Given the description of an element on the screen output the (x, y) to click on. 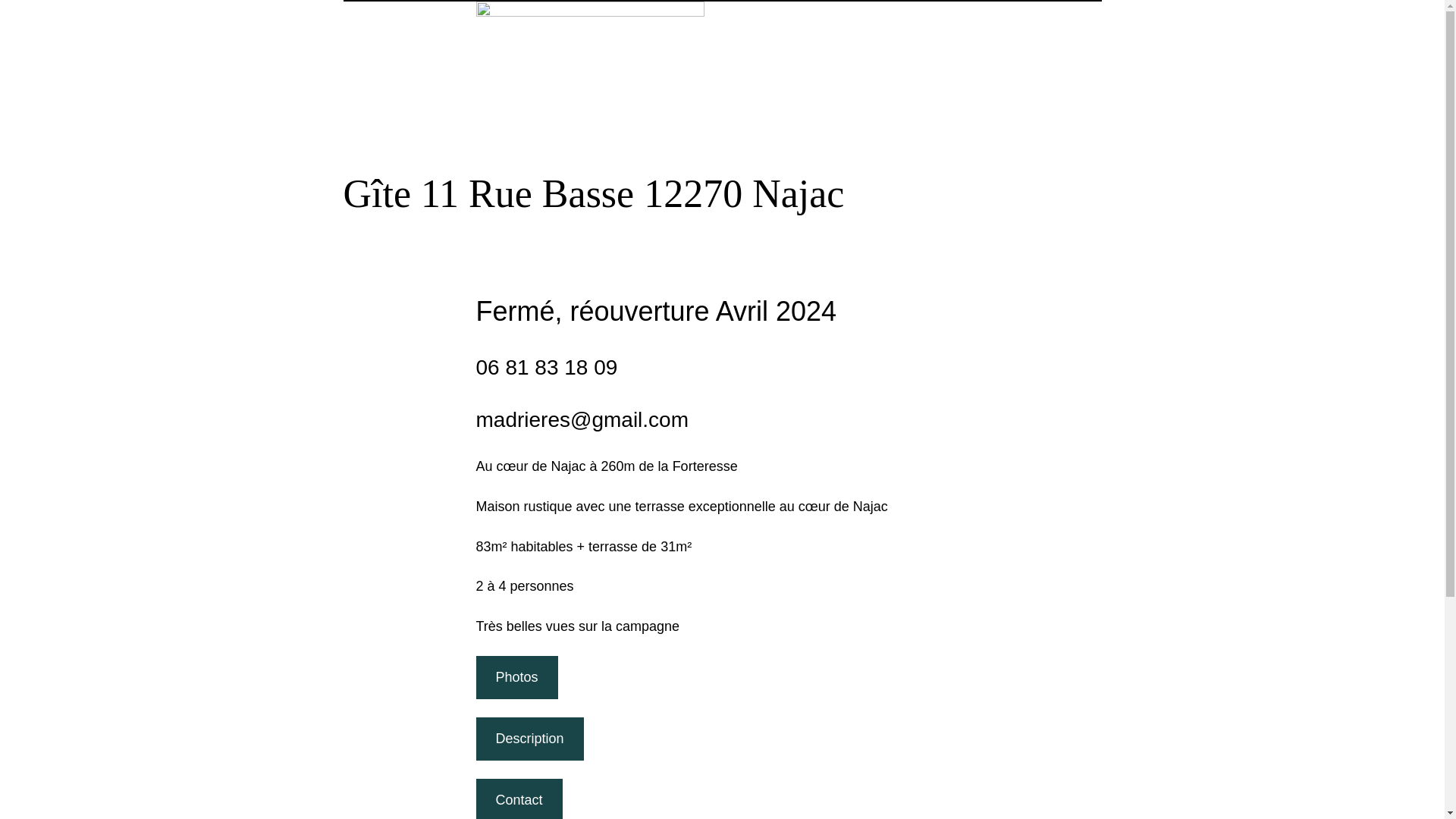
Photos Element type: text (517, 677)
Description Element type: text (529, 738)
